Given the description of an element on the screen output the (x, y) to click on. 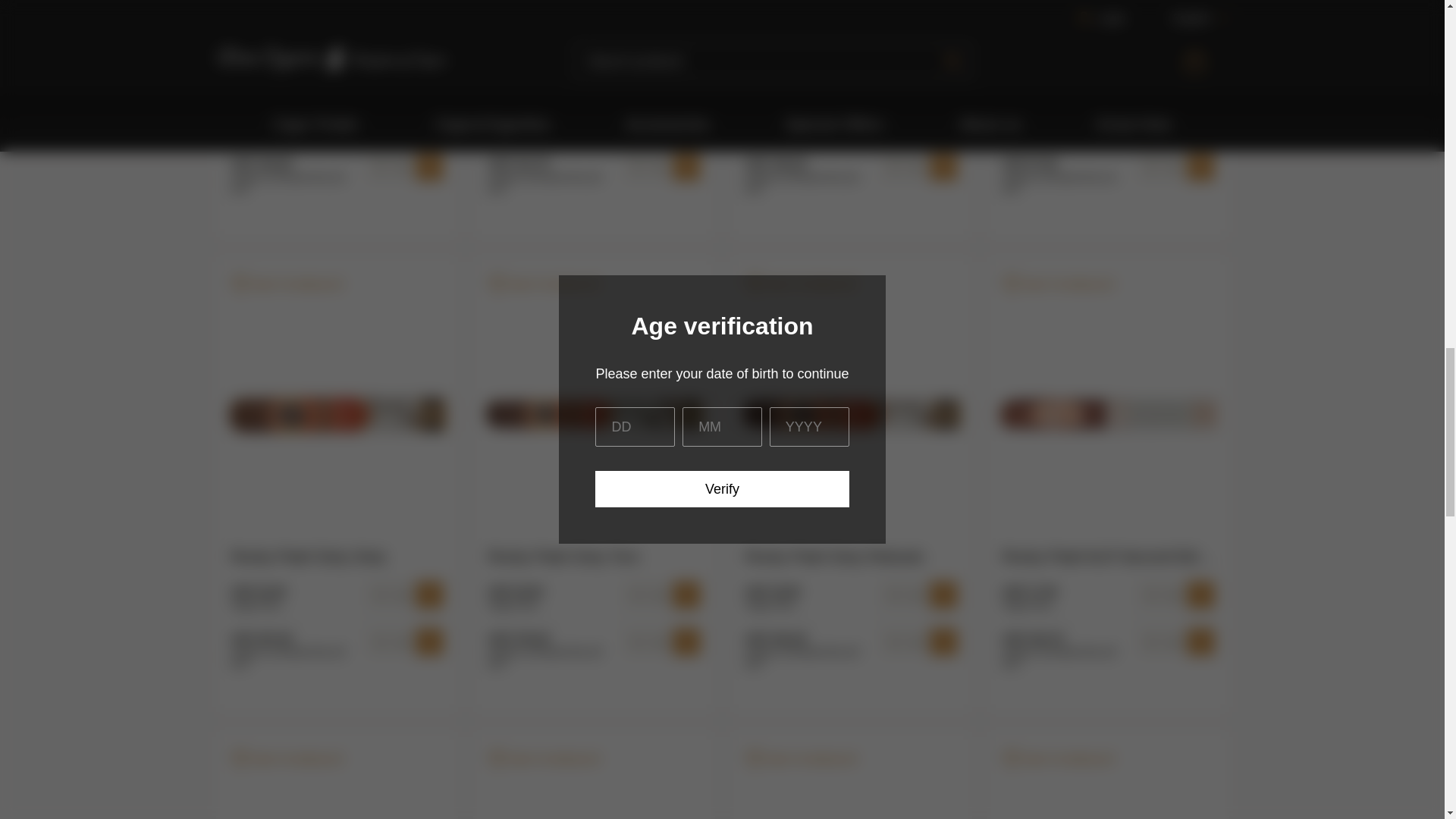
Please sign in first! (1059, 284)
Please sign in first! (544, 759)
Please sign in first! (800, 284)
Please sign in first! (1059, 759)
Please sign in first! (800, 759)
Please sign in first! (286, 759)
Please sign in first! (286, 284)
Please sign in first! (544, 284)
